Given the description of an element on the screen output the (x, y) to click on. 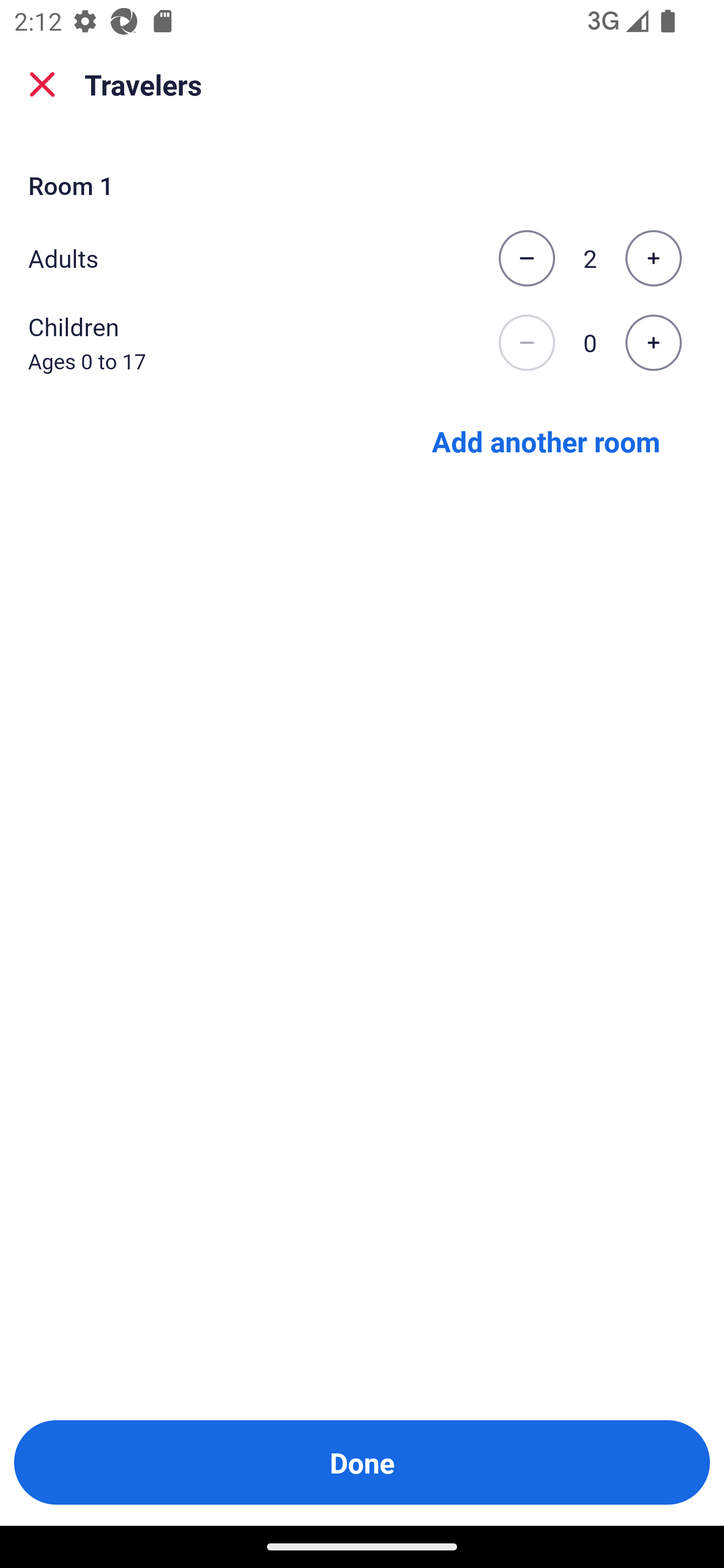
close (42, 84)
Decrease the number of adults (526, 258)
Increase the number of adults (653, 258)
Decrease the number of children (526, 343)
Increase the number of children (653, 343)
Add another room (545, 440)
Done (361, 1462)
